Given the description of an element on the screen output the (x, y) to click on. 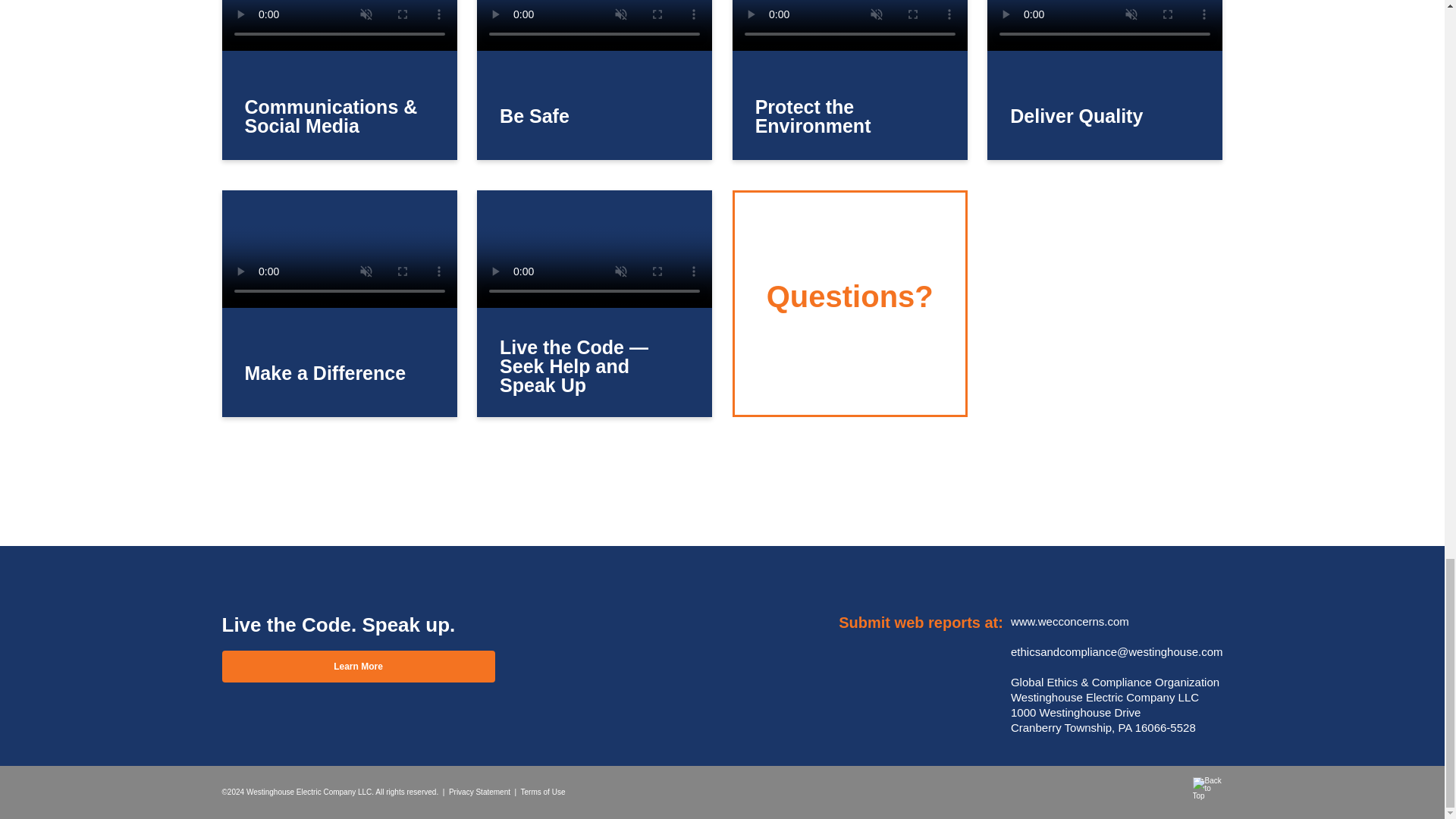
Learn More (358, 665)
Terms of Use (543, 791)
www.wecconcerns.com (1069, 621)
Privacy Statement (479, 791)
